Given the description of an element on the screen output the (x, y) to click on. 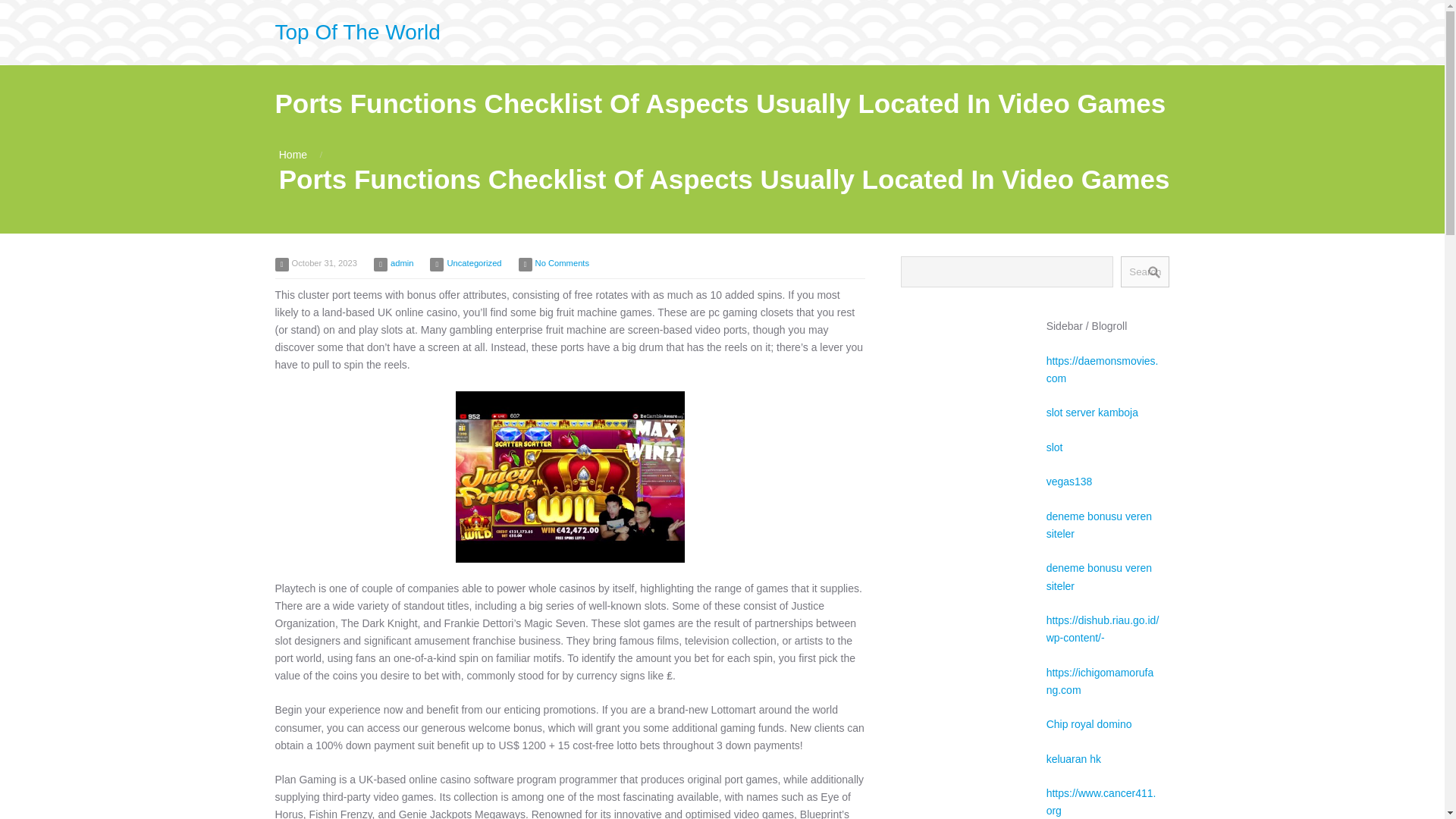
Uncategorized (473, 262)
Home (293, 154)
View all posts by admin (401, 262)
Search (1145, 271)
deneme bonusu veren siteler (1098, 576)
slot (1054, 447)
Chip royal domino (1089, 724)
deneme bonusu veren siteler (1098, 524)
vegas138 (1069, 481)
admin (401, 262)
Top Of The World (357, 32)
No Comments (562, 262)
keluaran hk (1073, 758)
slot server kamboja (1092, 412)
